Given the description of an element on the screen output the (x, y) to click on. 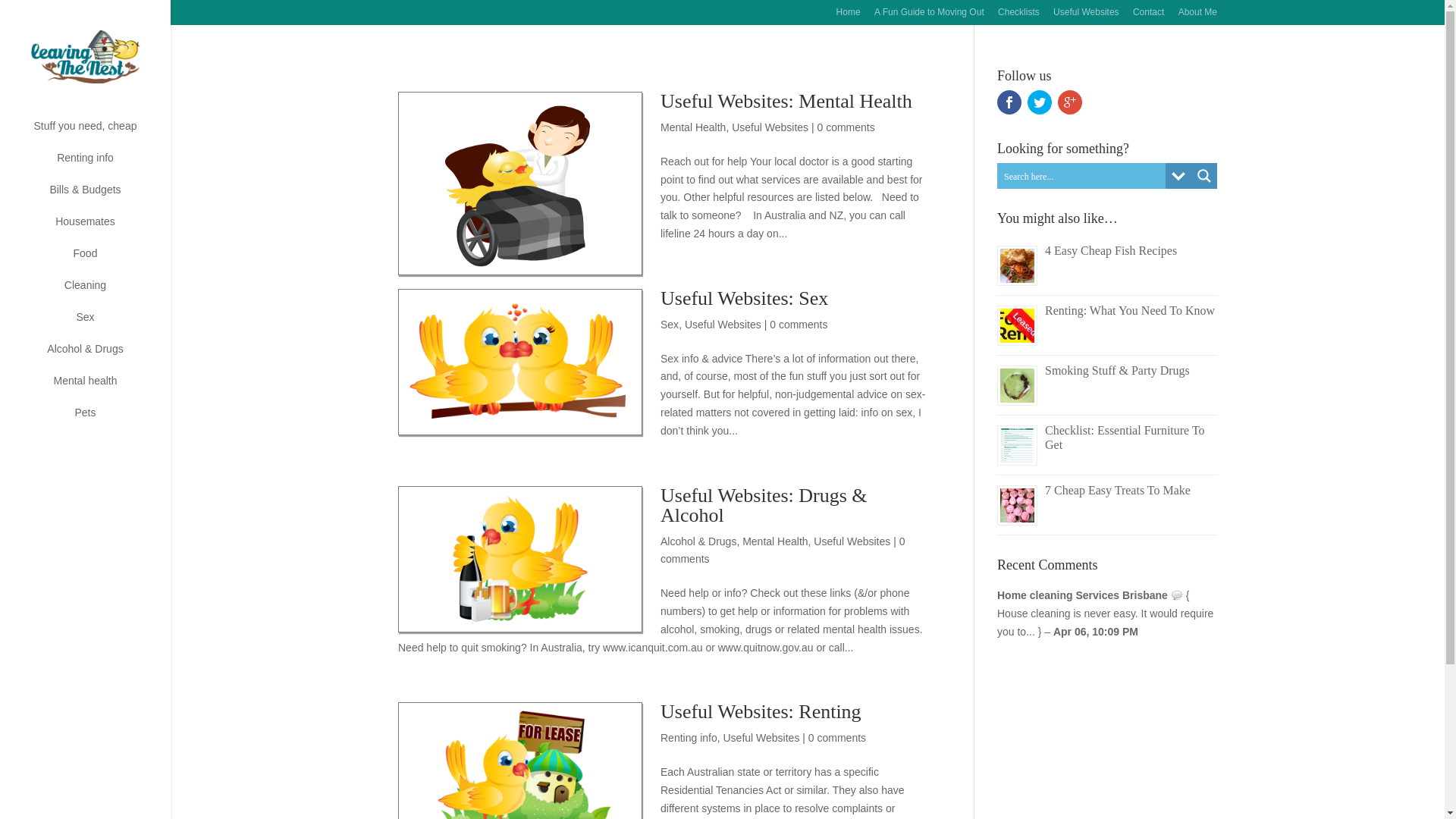
Useful Websites: Sex Element type: text (744, 298)
A Fun Guide to Moving Out Element type: text (929, 16)
Contact Element type: text (1148, 16)
0 comments Element type: text (798, 324)
Useful Websites Element type: text (1085, 16)
Apr 06, 10:09 PM Element type: text (1095, 631)
Sex Element type: text (669, 324)
Useful Websites: Renting Element type: text (760, 711)
0 comments Element type: text (837, 737)
Useful Websites Element type: text (769, 127)
Checklists Element type: text (1018, 16)
Housemates Element type: text (100, 228)
Alcohol & Drugs Element type: text (100, 356)
Stuff you need, cheap Element type: text (100, 133)
Mental Health Element type: text (774, 541)
0 comments Element type: text (782, 550)
facebook Element type: hover (1009, 102)
Google+ Element type: hover (1069, 102)
Renting: What You Need To Know Element type: text (1129, 310)
Mental Health Element type: text (692, 127)
Alcohol & Drugs Element type: text (698, 541)
Useful Websites: Mental Health Element type: text (786, 101)
Useful Websites Element type: text (761, 737)
Twitter Element type: hover (1039, 102)
Smoking Stuff & Party Drugs Element type: text (1116, 370)
Food Element type: text (100, 260)
0 comments Element type: text (846, 127)
Useful Websites: Drugs & Alcohol Element type: text (763, 505)
Renting info Element type: text (100, 165)
About Me Element type: text (1197, 16)
Useful Websites Element type: text (851, 541)
Renting info Element type: text (688, 737)
Cleaning Element type: text (100, 292)
Pets Element type: text (100, 420)
Useful Websites Element type: text (722, 324)
Bills & Budgets Element type: text (100, 197)
Checklist: Essential Furniture To Get Element type: text (1124, 437)
Sex Element type: text (100, 324)
Home Element type: text (848, 16)
4 Easy Cheap Fish Recipes Element type: text (1110, 250)
7 Cheap Easy Treats To Make Element type: text (1117, 489)
Mental health Element type: text (100, 388)
